Given the description of an element on the screen output the (x, y) to click on. 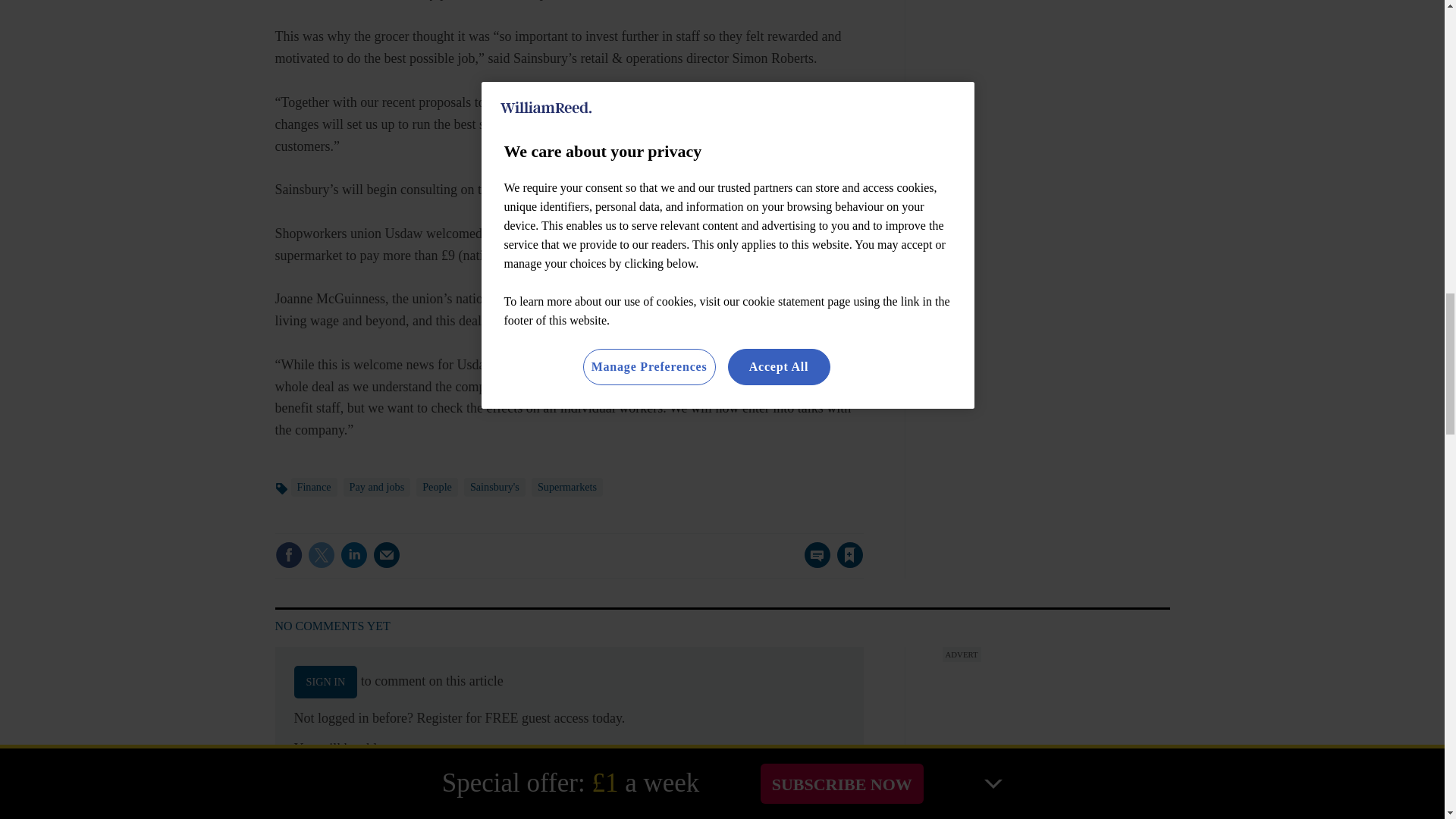
Email this article (386, 554)
Share this on Twitter (320, 554)
No comments (812, 563)
Share this on Facebook (288, 554)
Share this on Linked in (352, 554)
